Given the description of an element on the screen output the (x, y) to click on. 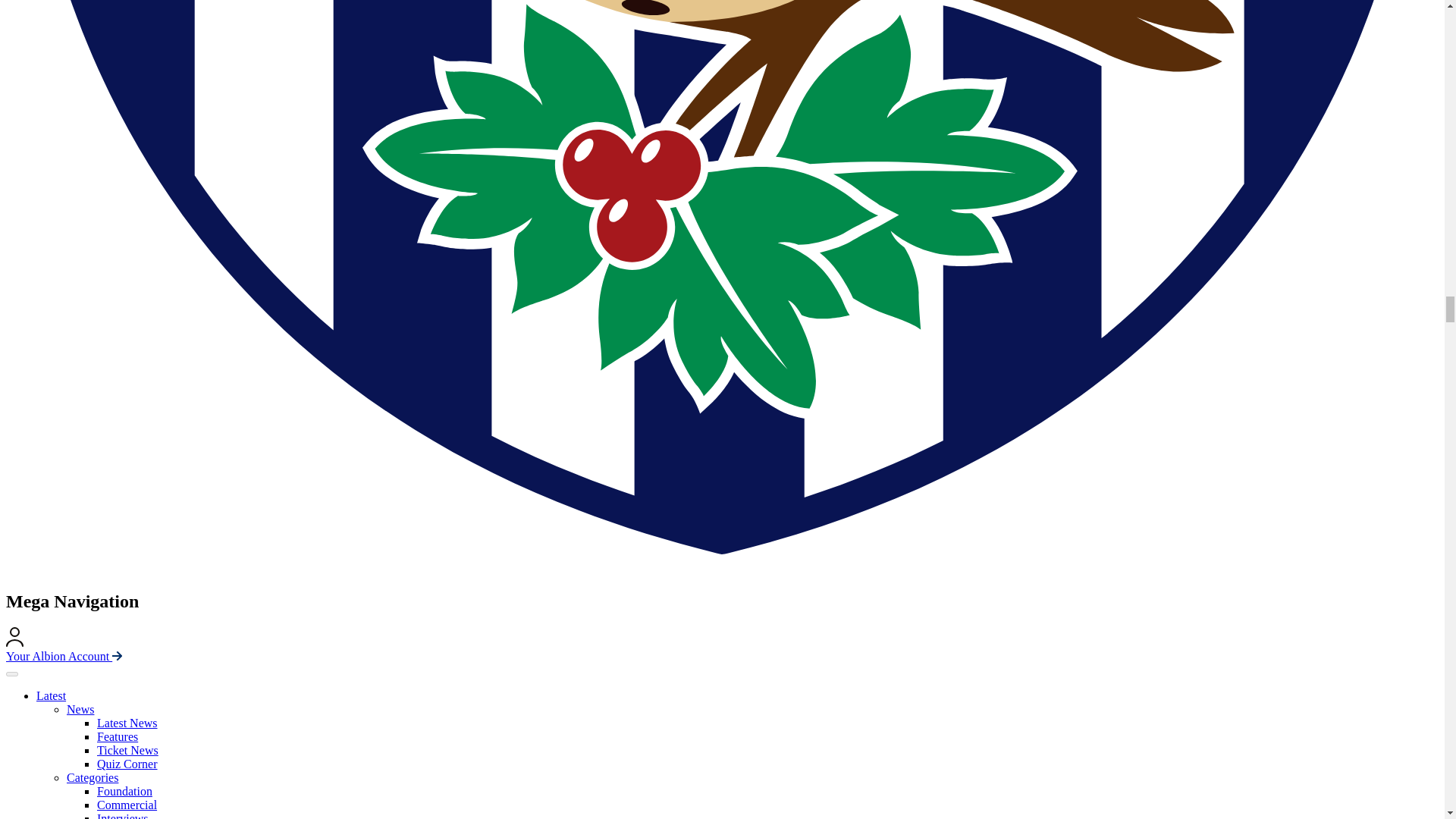
News (80, 708)
Latest (50, 695)
